Given the description of an element on the screen output the (x, y) to click on. 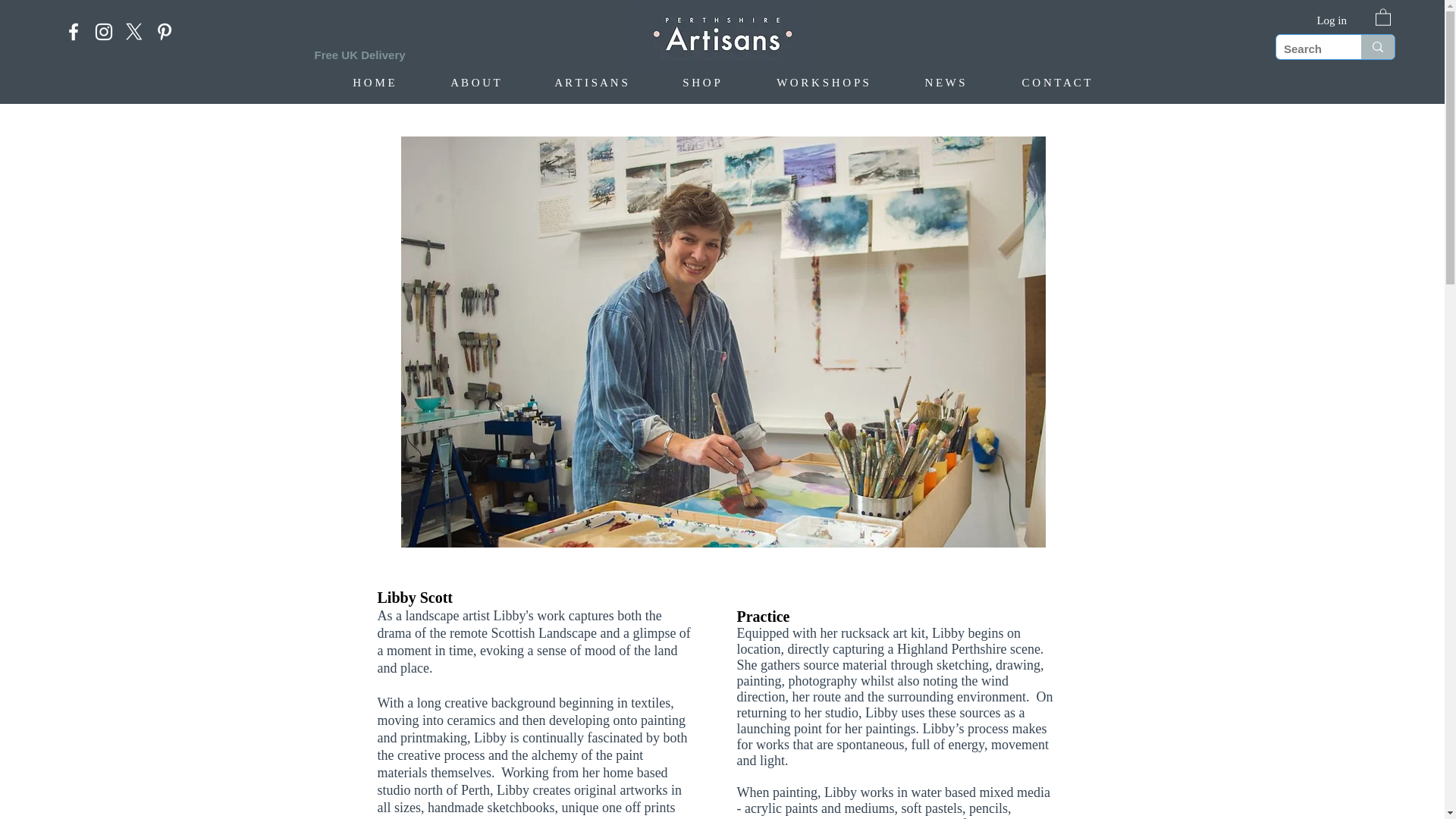
A R T I S A N S (590, 82)
Log in (1331, 20)
S H O P (700, 82)
N E W S (943, 82)
W O R K S H O P S (822, 82)
H O M E (373, 82)
C O N T A C T (1055, 82)
A B O U T (475, 82)
